Given the description of an element on the screen output the (x, y) to click on. 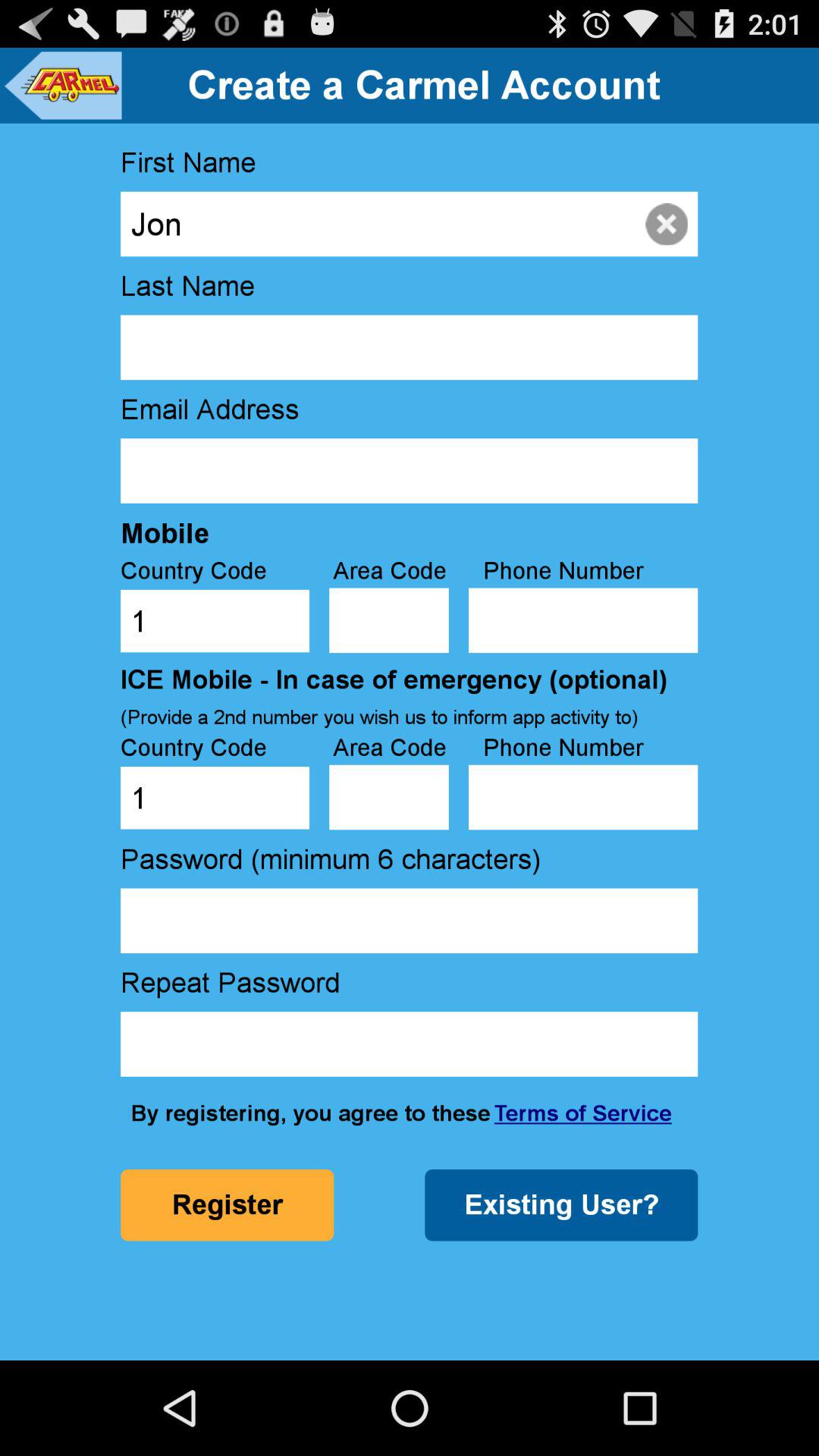
click icon above first name item (61, 85)
